Given the description of an element on the screen output the (x, y) to click on. 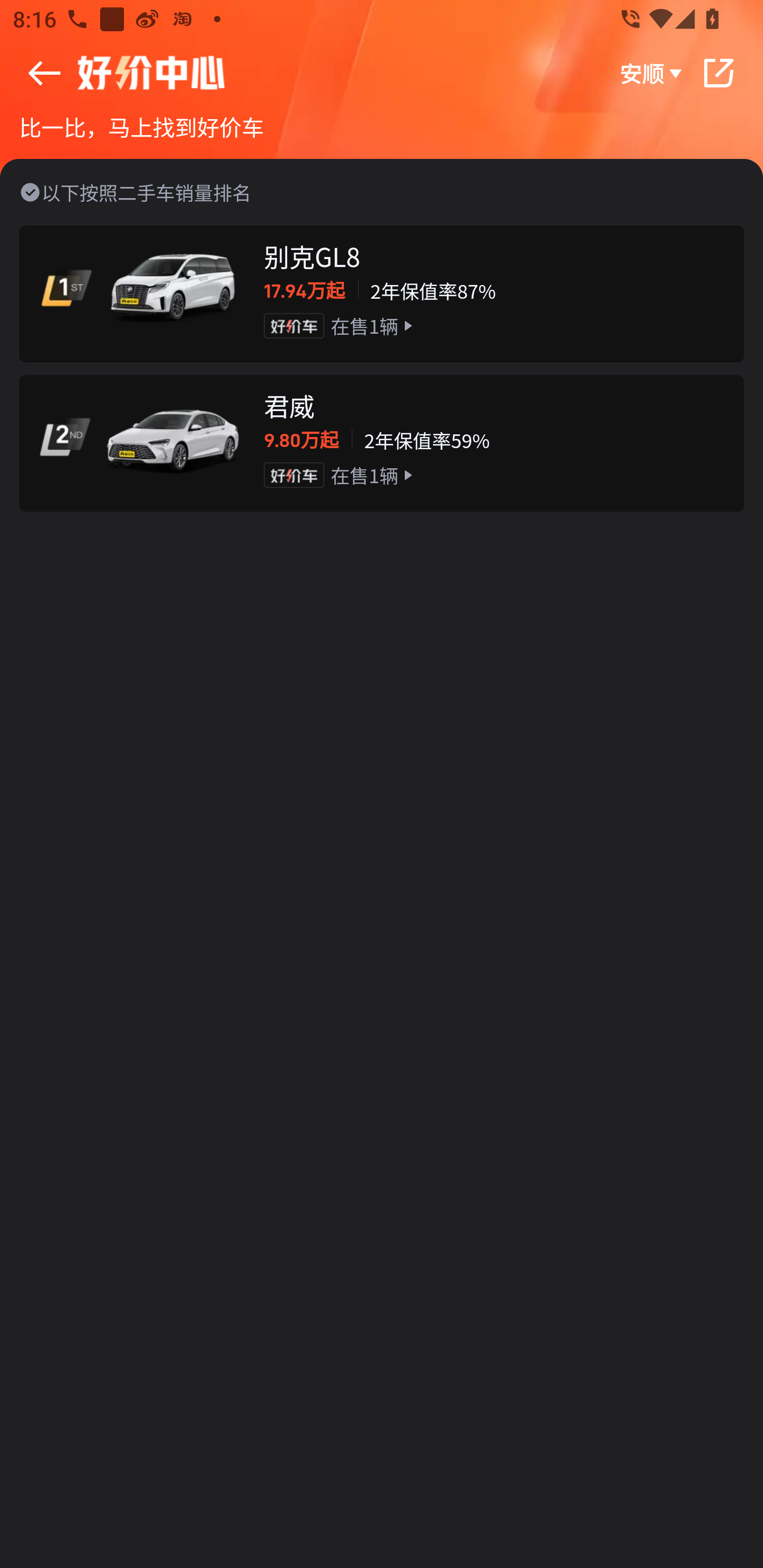
安顺 (381, 72)
安顺 (652, 72)
别克GL8 17.94万起 2年保值率87% 在售1辆 (381, 293)
君威 9.80万起 2年保值率59% 在售1辆 (381, 442)
